Given the description of an element on the screen output the (x, y) to click on. 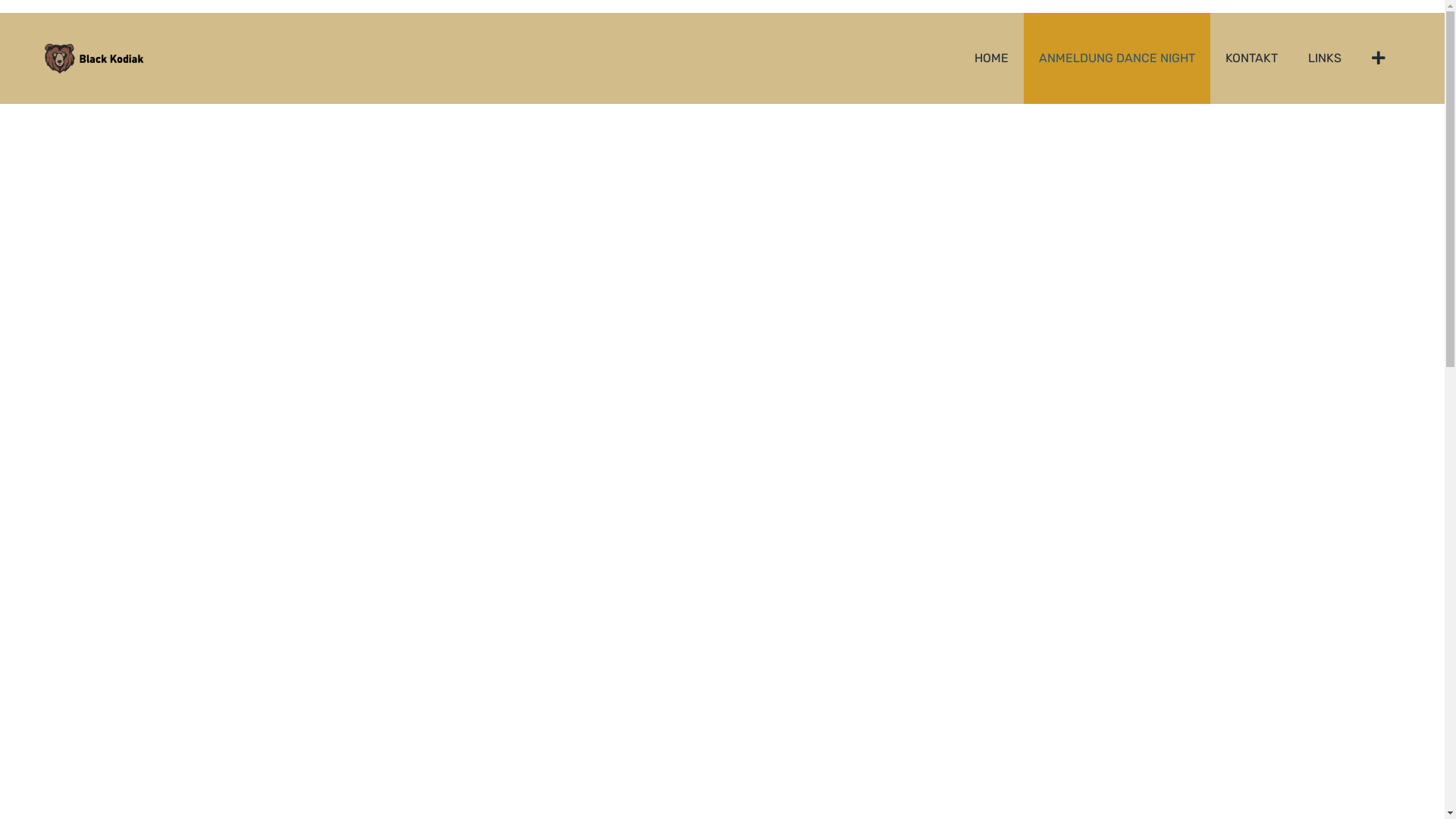
KONTAKT Element type: text (1251, 57)
Sliding Bar umschalten Element type: hover (1378, 57)
ANMELDUNG DANCE NIGHT Element type: text (1116, 57)
HOME Element type: text (991, 57)
LINKS Element type: text (1324, 57)
